Given the description of an element on the screen output the (x, y) to click on. 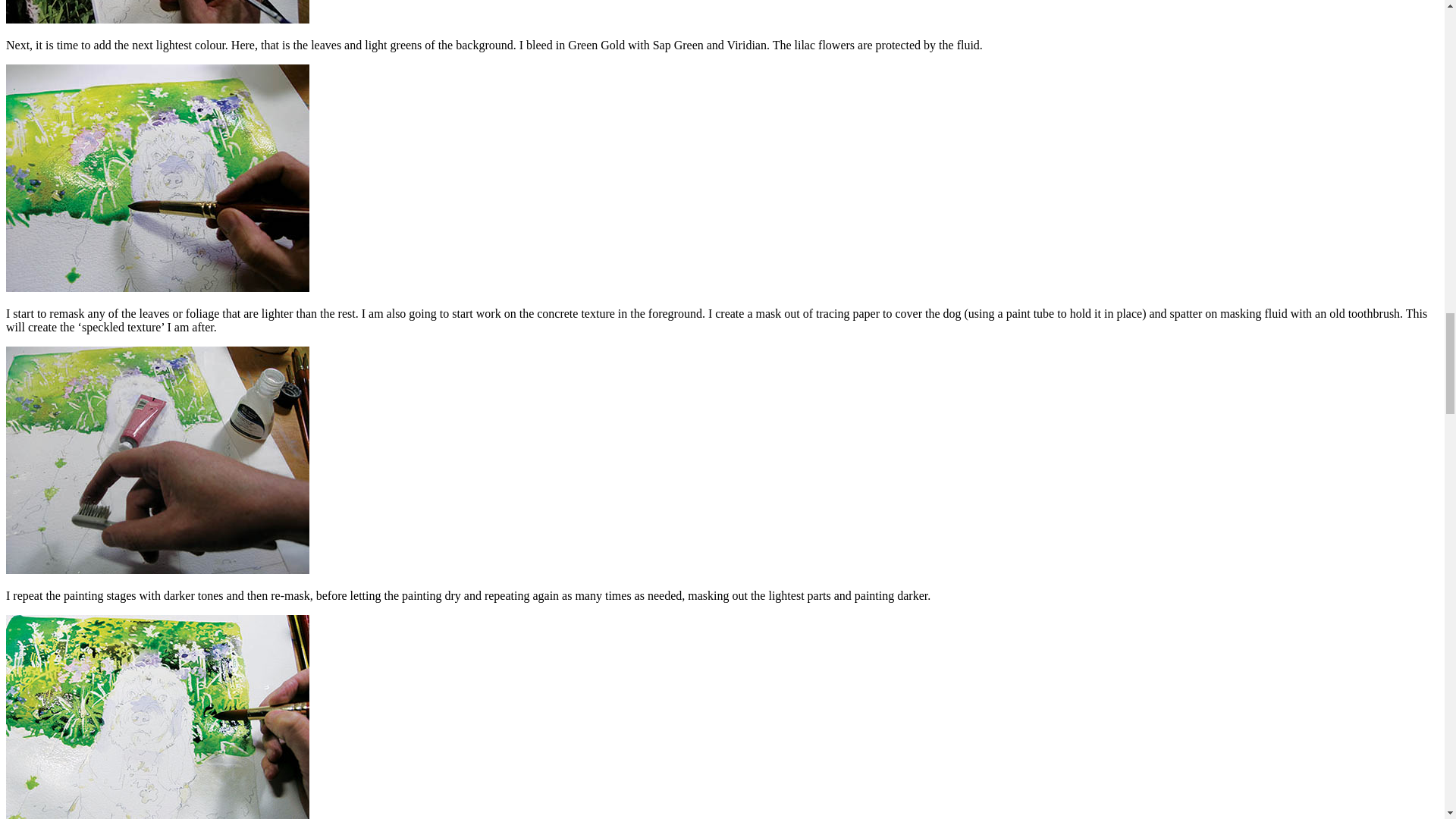
portrait  (156, 177)
dog (156, 460)
